Given the description of an element on the screen output the (x, y) to click on. 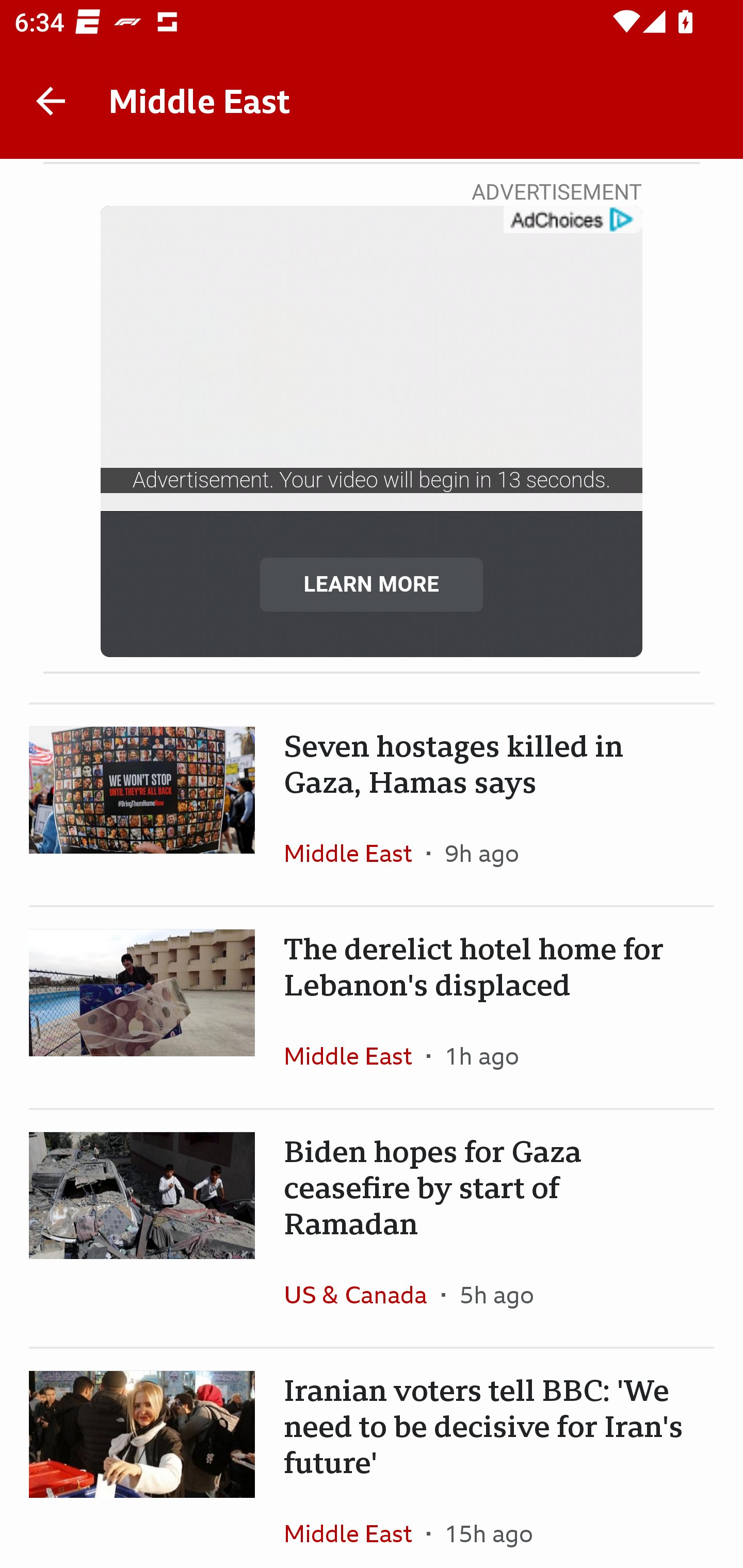
Back (50, 101)
get?name=admarker-full-tl (571, 220)
LEARN MORE (371, 583)
Middle East In the section Middle East (354, 852)
Middle East In the section Middle East (354, 1055)
US & Canada In the section US & Canada (362, 1293)
Middle East In the section Middle East (354, 1524)
